Given the description of an element on the screen output the (x, y) to click on. 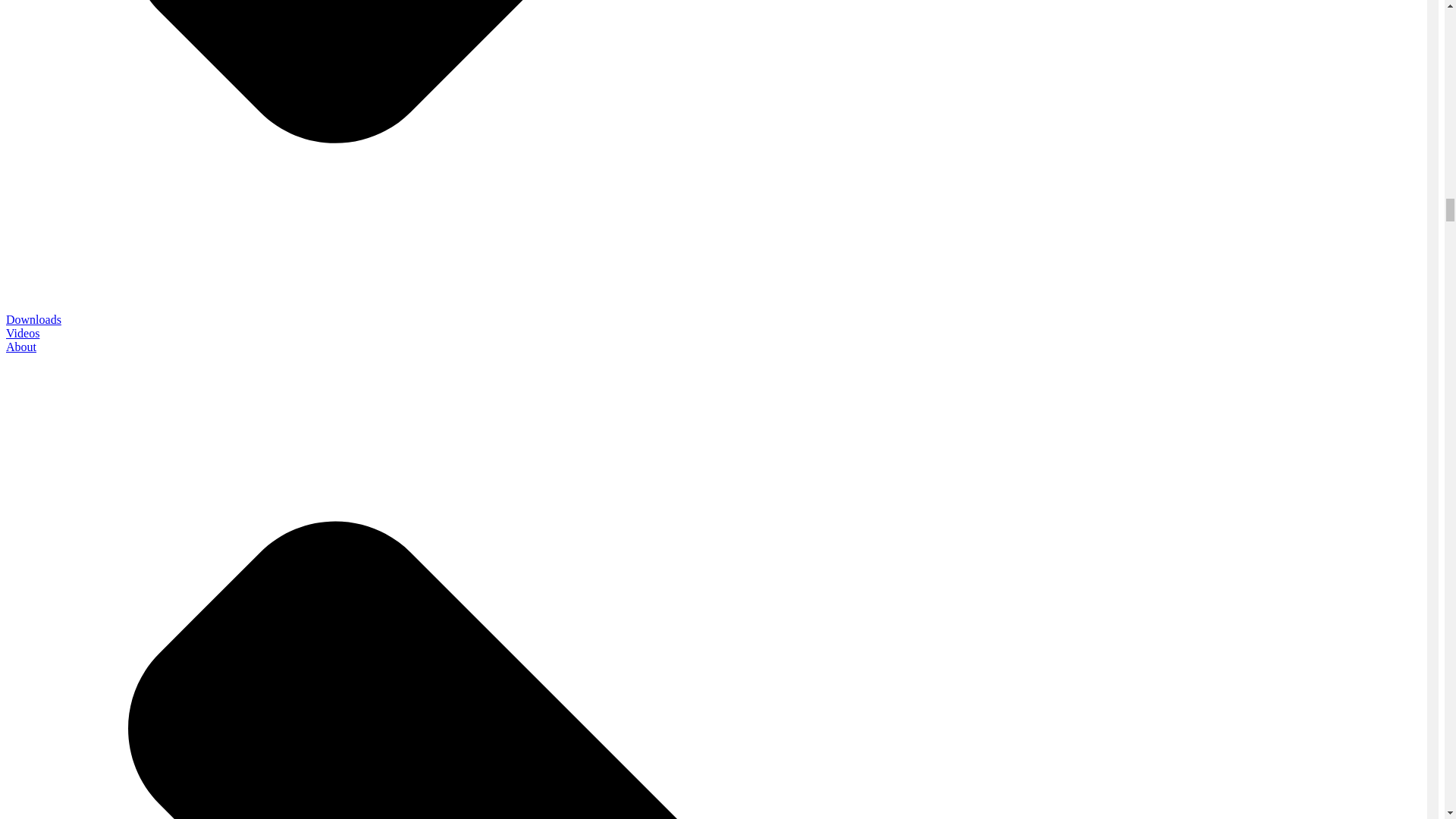
Downloads (33, 318)
Videos (22, 332)
About (20, 346)
